Given the description of an element on the screen output the (x, y) to click on. 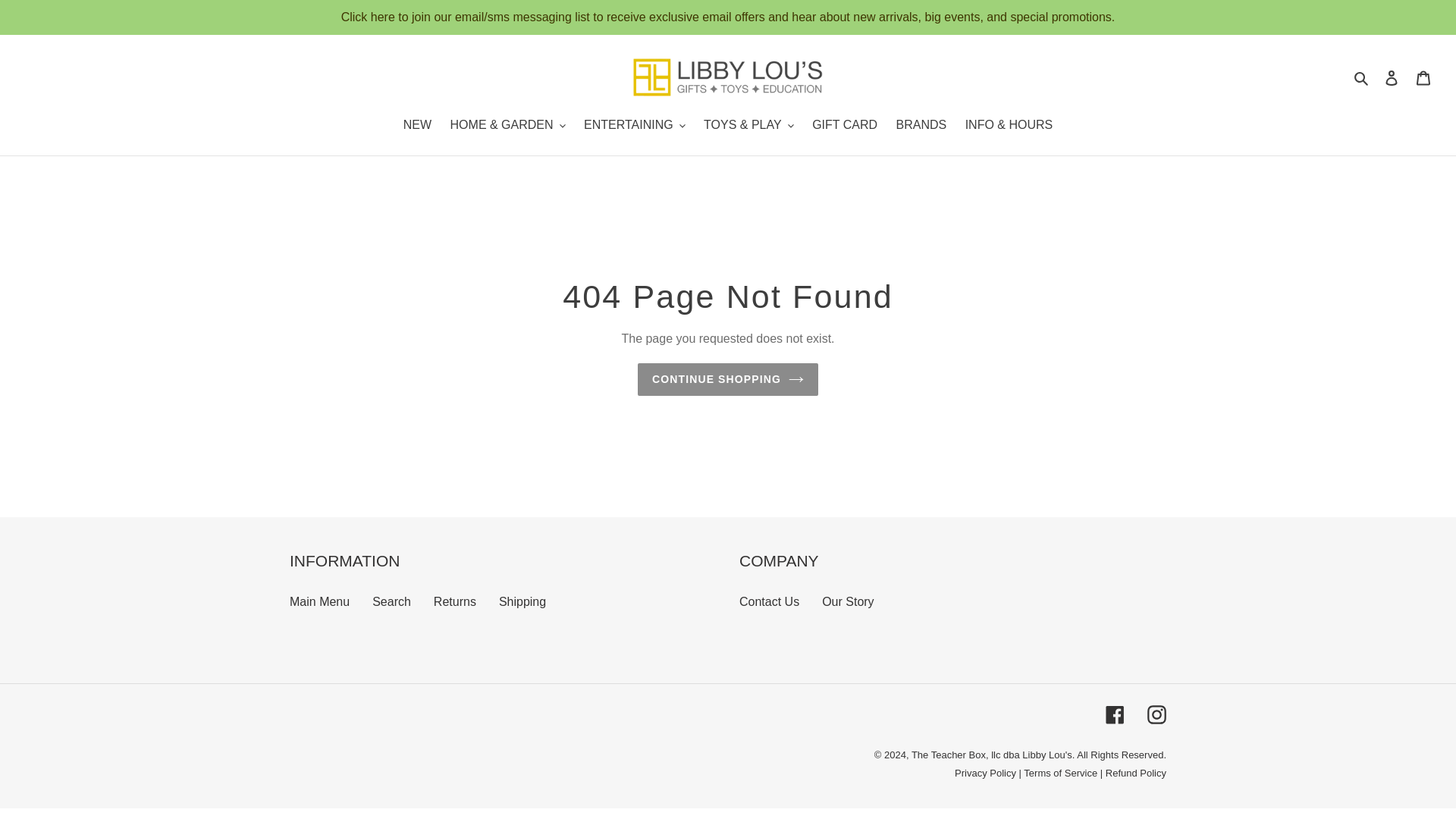
Cart (1423, 77)
Log in (1391, 77)
Search (1362, 76)
